Given the description of an element on the screen output the (x, y) to click on. 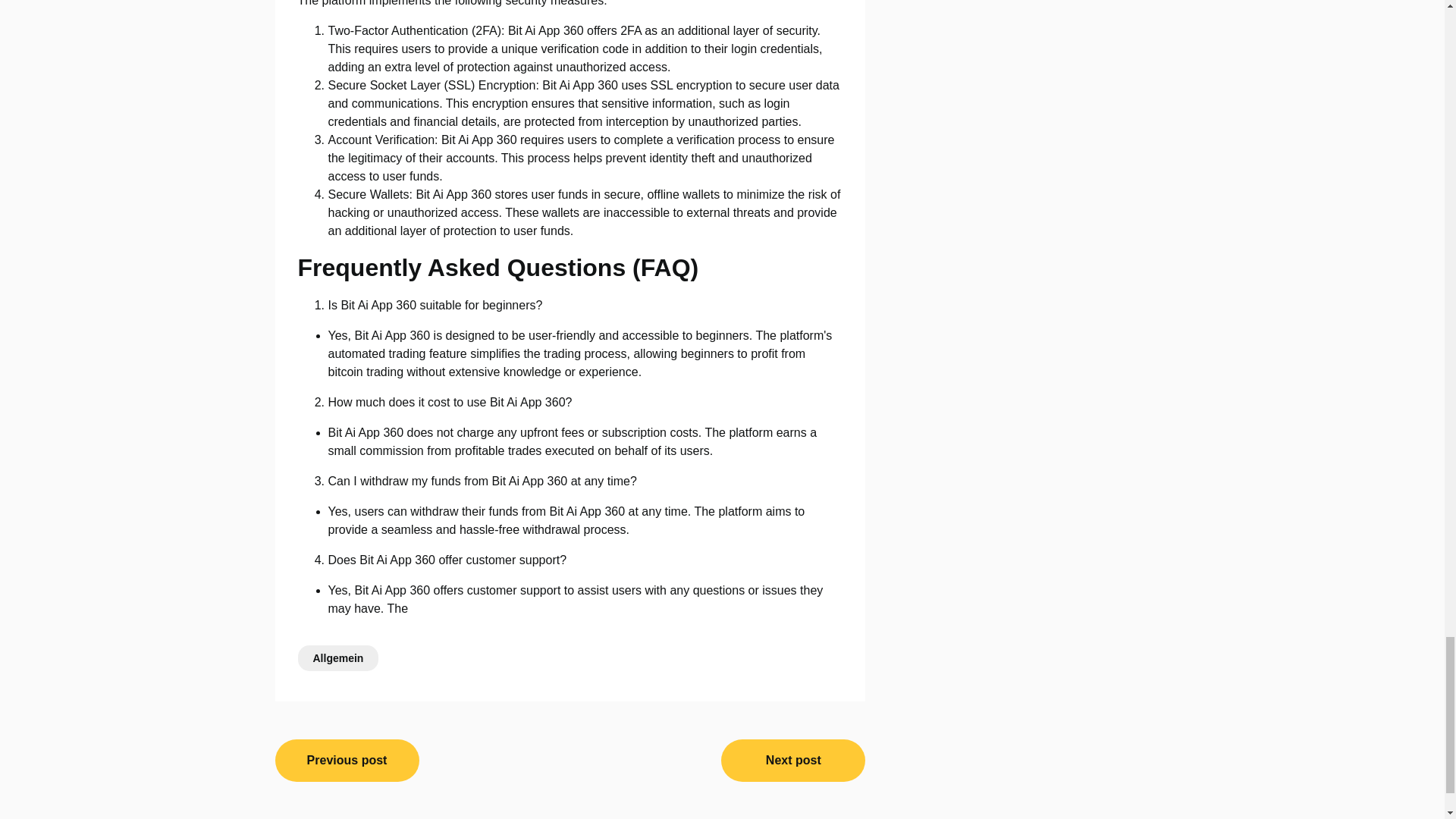
Next post (792, 759)
Allgemein (337, 657)
Previous post (347, 759)
